Given the description of an element on the screen output the (x, y) to click on. 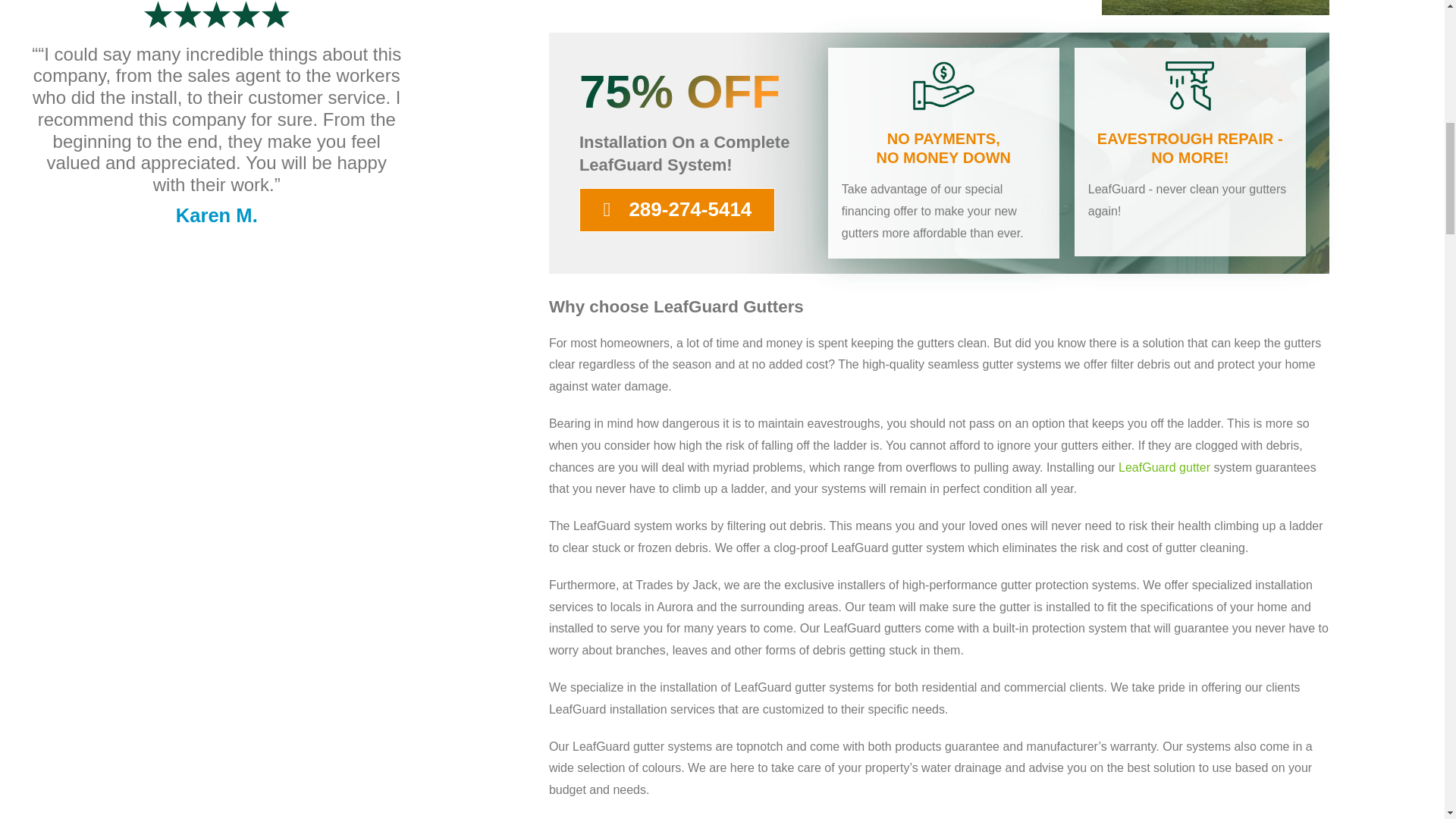
289-274-5414 (676, 209)
LeafGuard gutter (1163, 467)
